Given the description of an element on the screen output the (x, y) to click on. 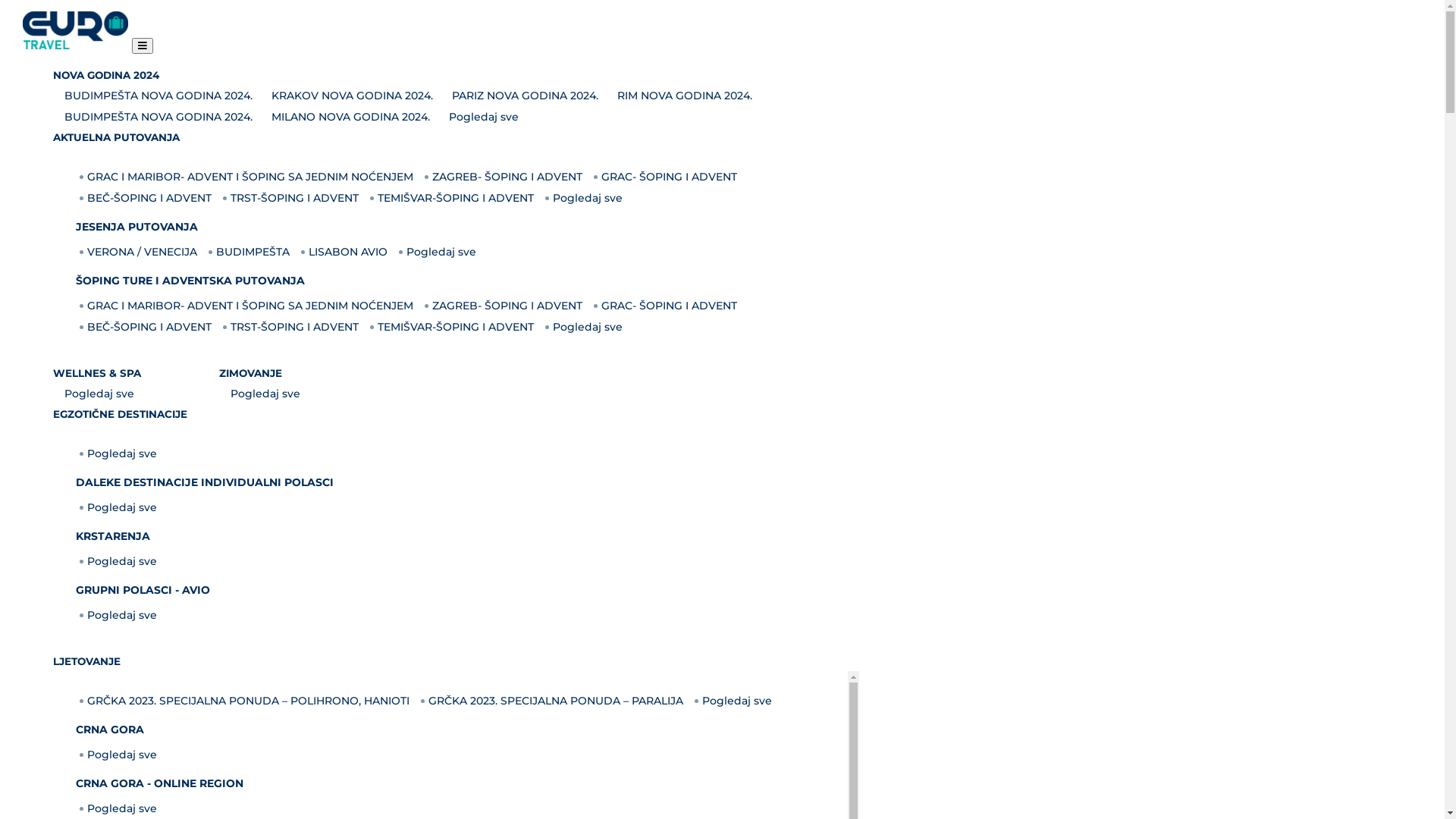
KRAKOV NOVA GODINA 2024. Element type: text (350, 95)
AKTUELNA PUTOVANJA Element type: text (121, 137)
Pogledaj sve Element type: text (119, 506)
Pogledaj sve Element type: text (119, 453)
RIM NOVA GODINA 2024. Element type: text (682, 95)
Pogledaj sve Element type: text (734, 700)
KRSTARENJA Element type: text (112, 535)
LISABON AVIO Element type: text (346, 251)
PARIZ NOVA GODINA 2024. Element type: text (522, 95)
CRNA GORA Element type: text (109, 729)
Pogledaj sve Element type: text (119, 614)
Pogledaj sve Element type: text (585, 197)
Pogledaj sve Element type: text (481, 116)
Ljetovanje Element type: text (132, 422)
Pogledaj sve Element type: text (439, 251)
DALEKE DESTINACIJE INDIVIDUALNI POLASCI Element type: text (204, 482)
ZIMOVANJE Element type: text (255, 372)
JESENJA PUTOVANJA Element type: text (136, 226)
VERONA / VENECIJA Element type: text (139, 251)
Pogledaj sve Element type: text (585, 326)
CRNA GORA - ONLINE REGION Element type: text (159, 783)
GRUPNI POLASCI - AVIO Element type: text (142, 589)
NOVA GODINA 2024 Element type: text (111, 74)
Pogledaj sve Element type: text (263, 393)
Pogledaj sve Element type: text (119, 560)
Pogledaj sve Element type: text (119, 754)
MILANO NOVA GODINA 2024. Element type: text (348, 116)
Pogledaj sve Element type: text (97, 393)
WELLNES & SPA Element type: text (101, 372)
LJETOVANJE Element type: text (91, 661)
